Given the description of an element on the screen output the (x, y) to click on. 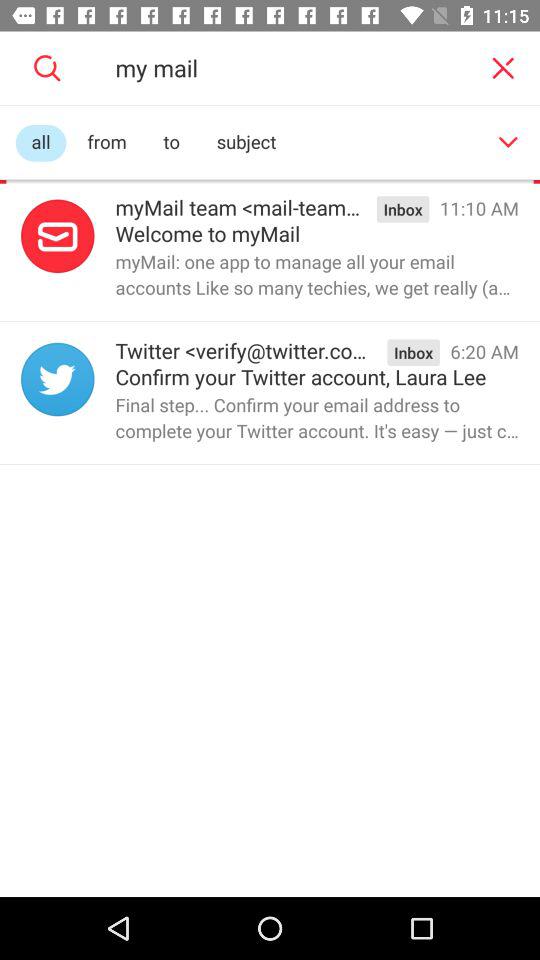
jump until from icon (106, 142)
